Given the description of an element on the screen output the (x, y) to click on. 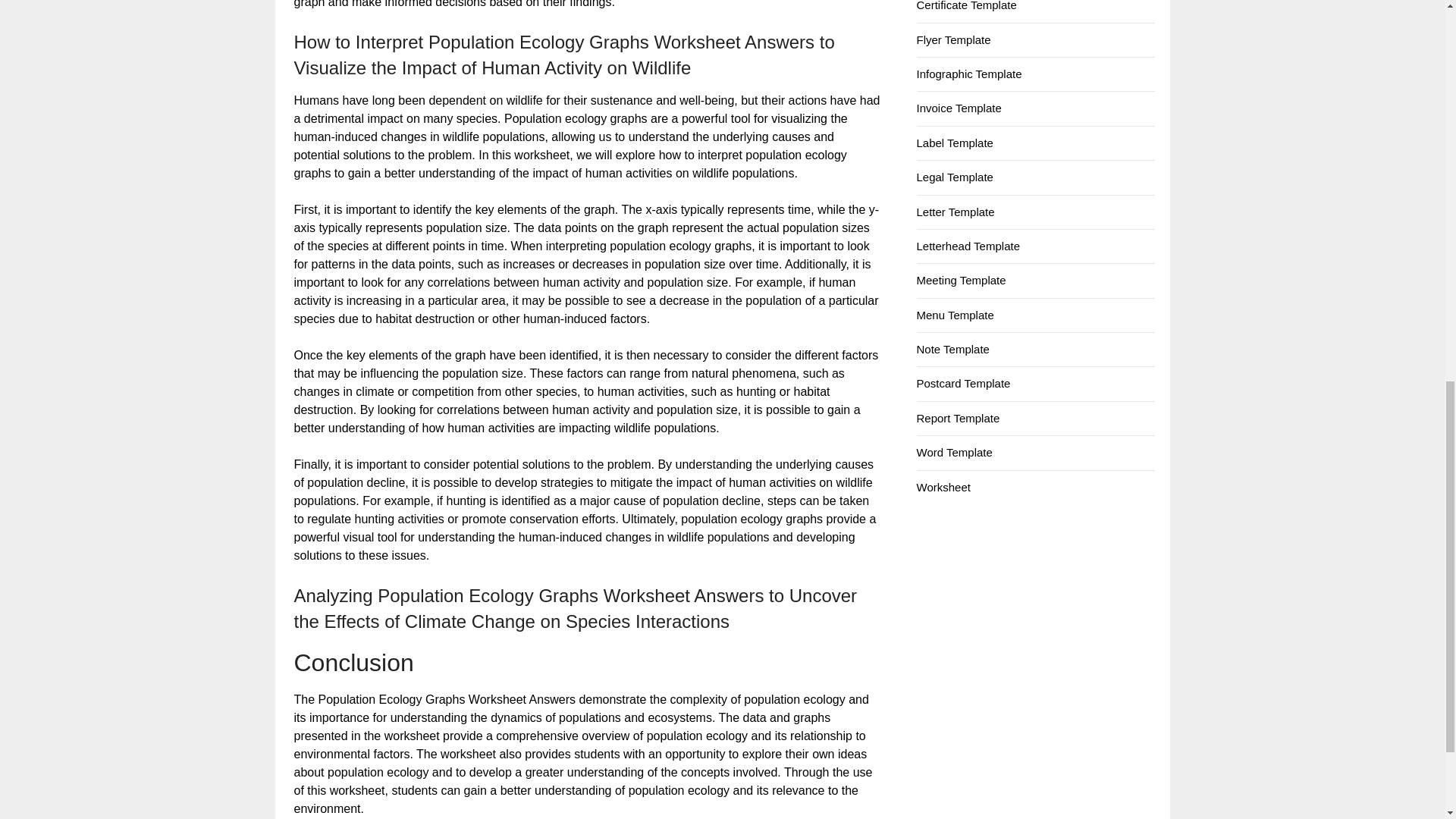
Menu Template (953, 314)
Flyer Template (952, 39)
Report Template (956, 418)
Postcard Template (962, 382)
Label Template (953, 142)
Certificate Template (965, 5)
Infographic Template (968, 73)
Legal Template (953, 176)
Invoice Template (958, 107)
Note Template (951, 349)
